Given the description of an element on the screen output the (x, y) to click on. 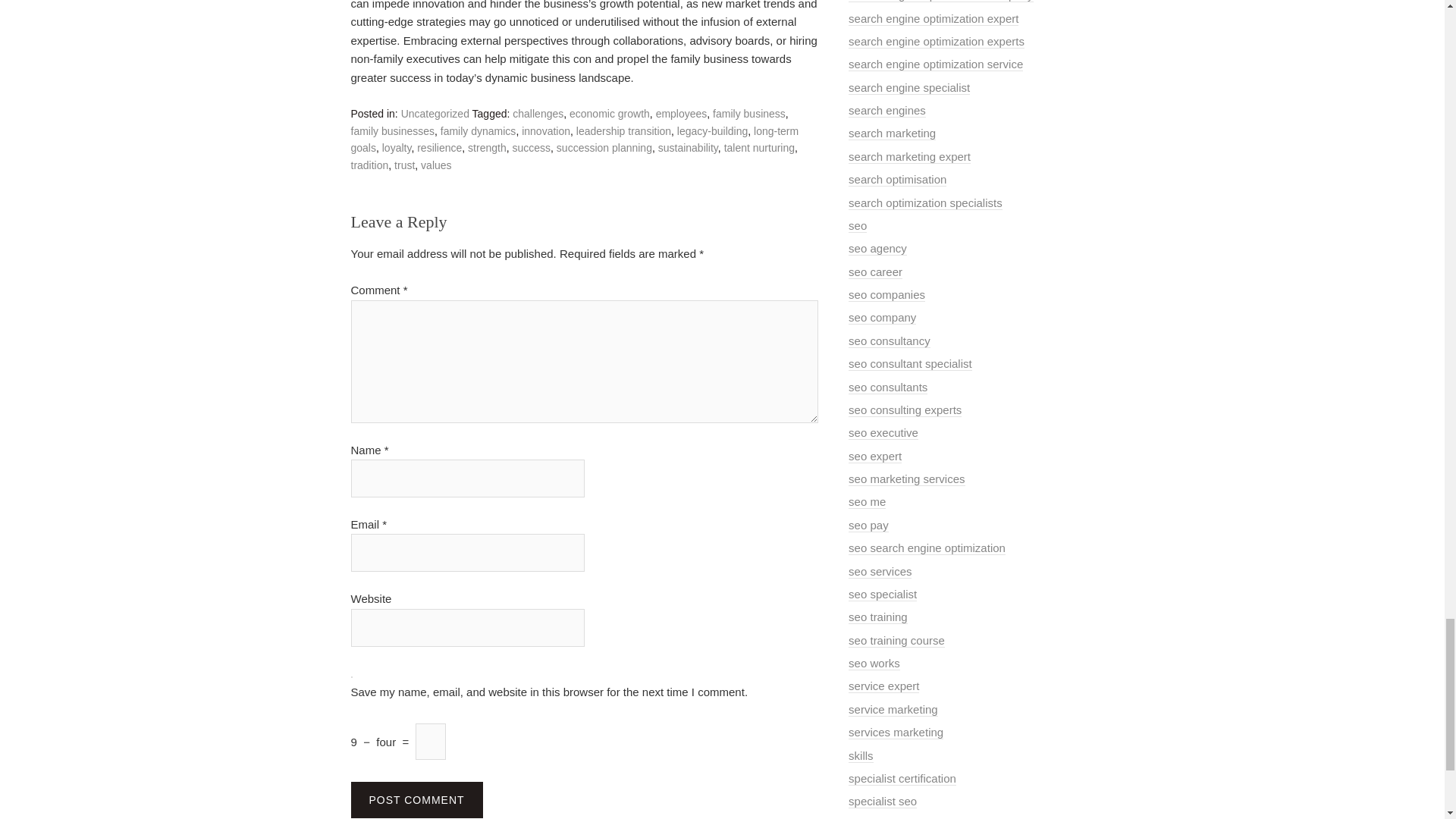
values (435, 164)
trust (404, 164)
leadership transition (623, 131)
Post Comment (415, 800)
tradition (369, 164)
economic growth (609, 113)
resilience (438, 147)
talent nurturing (758, 147)
Uncategorized (434, 113)
family businesses (391, 131)
